Given the description of an element on the screen output the (x, y) to click on. 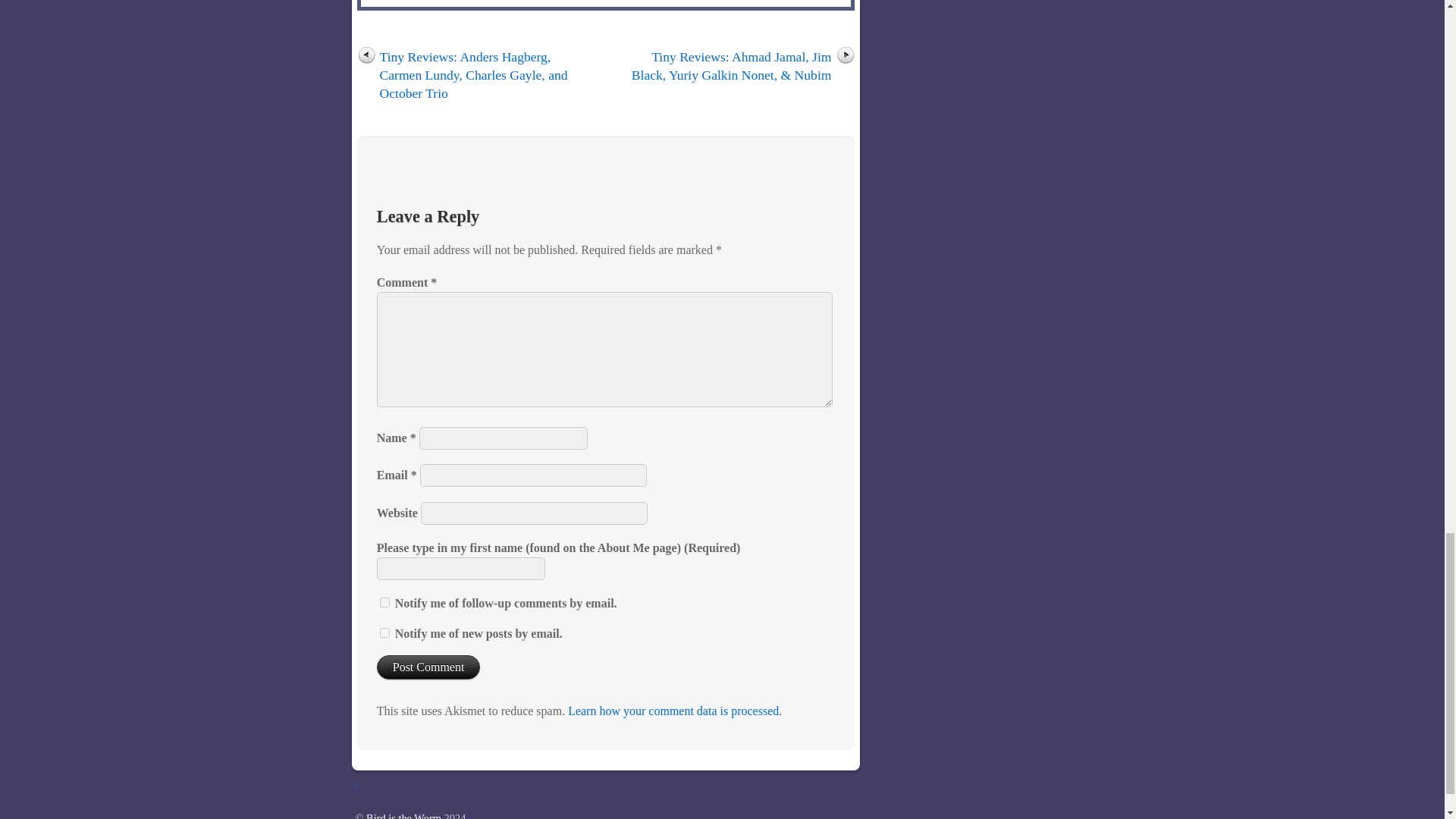
subscribe (385, 633)
subscribe (385, 602)
Post Comment (428, 667)
